Given the description of an element on the screen output the (x, y) to click on. 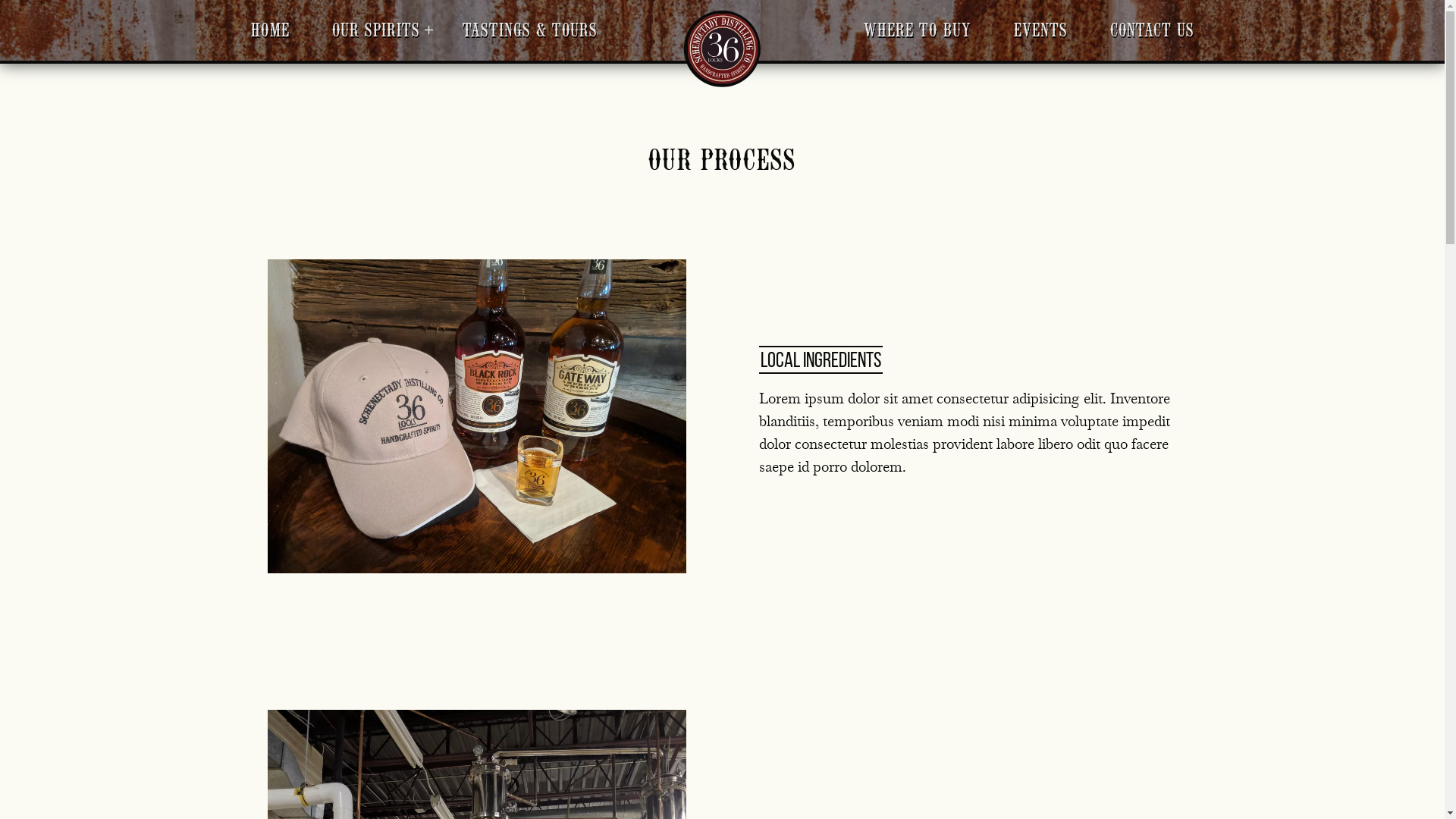
Tastings & Tours Element type: text (529, 29)
Home Element type: text (269, 29)
Where To Buy Element type: text (916, 29)
Events Element type: text (1039, 29)
Contact Us Element type: text (1151, 29)
